Given the description of an element on the screen output the (x, y) to click on. 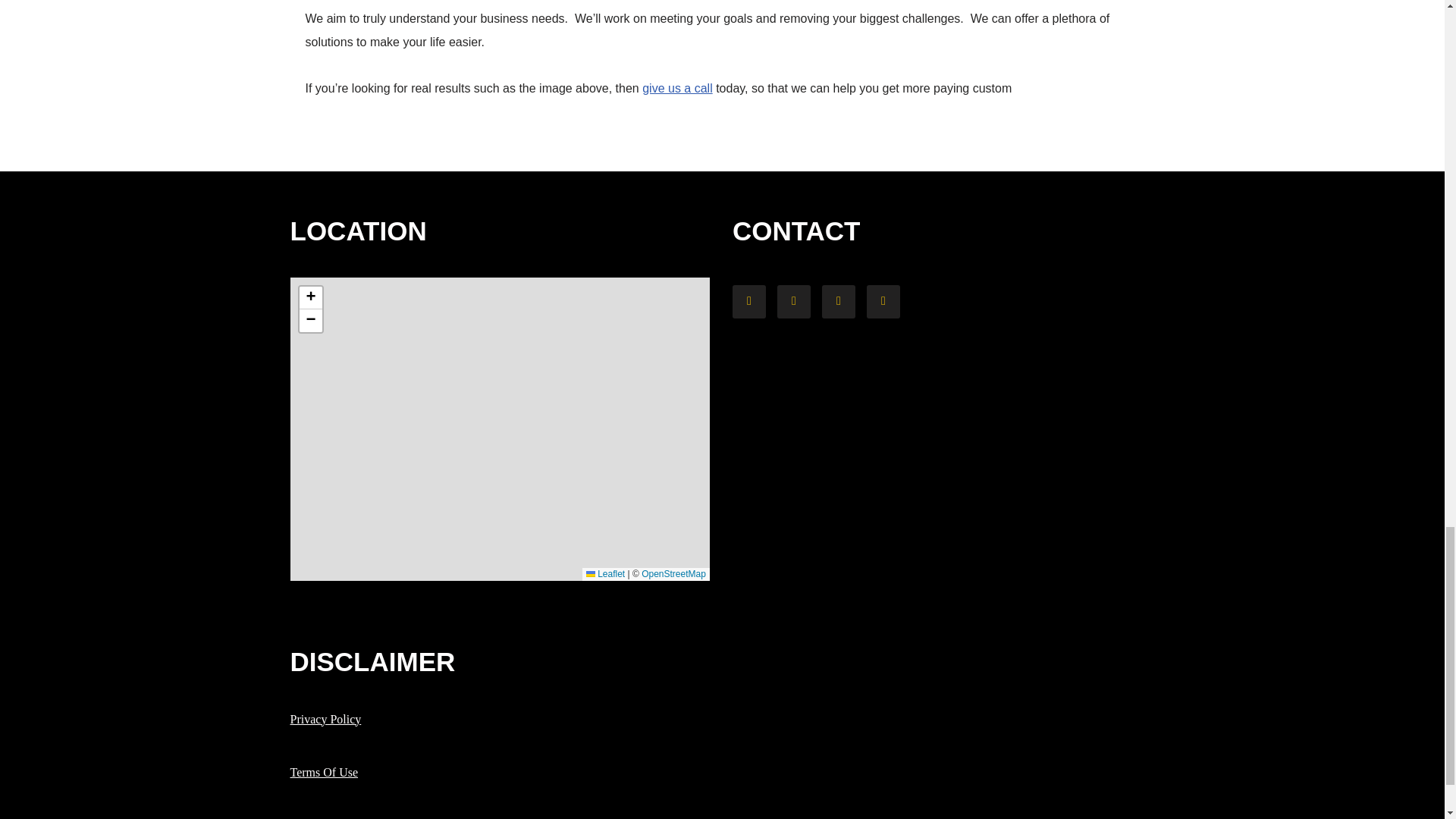
A JavaScript library for interactive maps (605, 573)
Leaflet (605, 573)
give us a call (677, 88)
Zoom out (309, 320)
OpenStreetMap (674, 573)
Zoom in (309, 297)
